Given the description of an element on the screen output the (x, y) to click on. 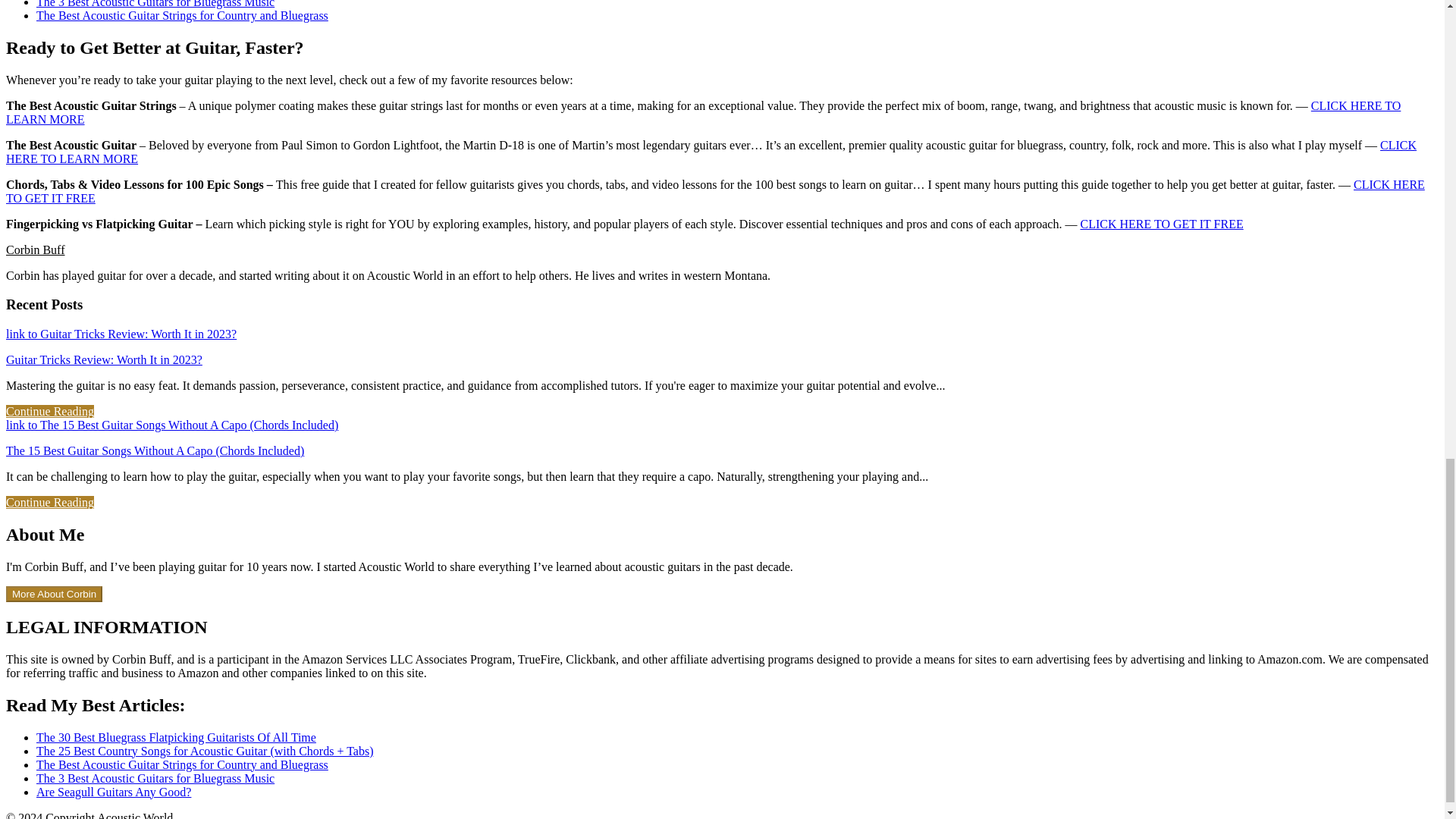
Corbin Buff (34, 249)
CLICK HERE TO GET IT FREE (715, 191)
Continue Reading (49, 410)
The 3 Best Acoustic Guitars for Bluegrass Music (155, 4)
The Best Acoustic Guitar Strings for Country and Bluegrass (182, 15)
Guitar Tricks Review: Worth It in 2023? (103, 359)
CLICK HERE TO GET IT FREE (1161, 223)
CLICK HERE TO LEARN MORE (702, 112)
CLICK HERE TO LEARN MORE (710, 151)
